Given the description of an element on the screen output the (x, y) to click on. 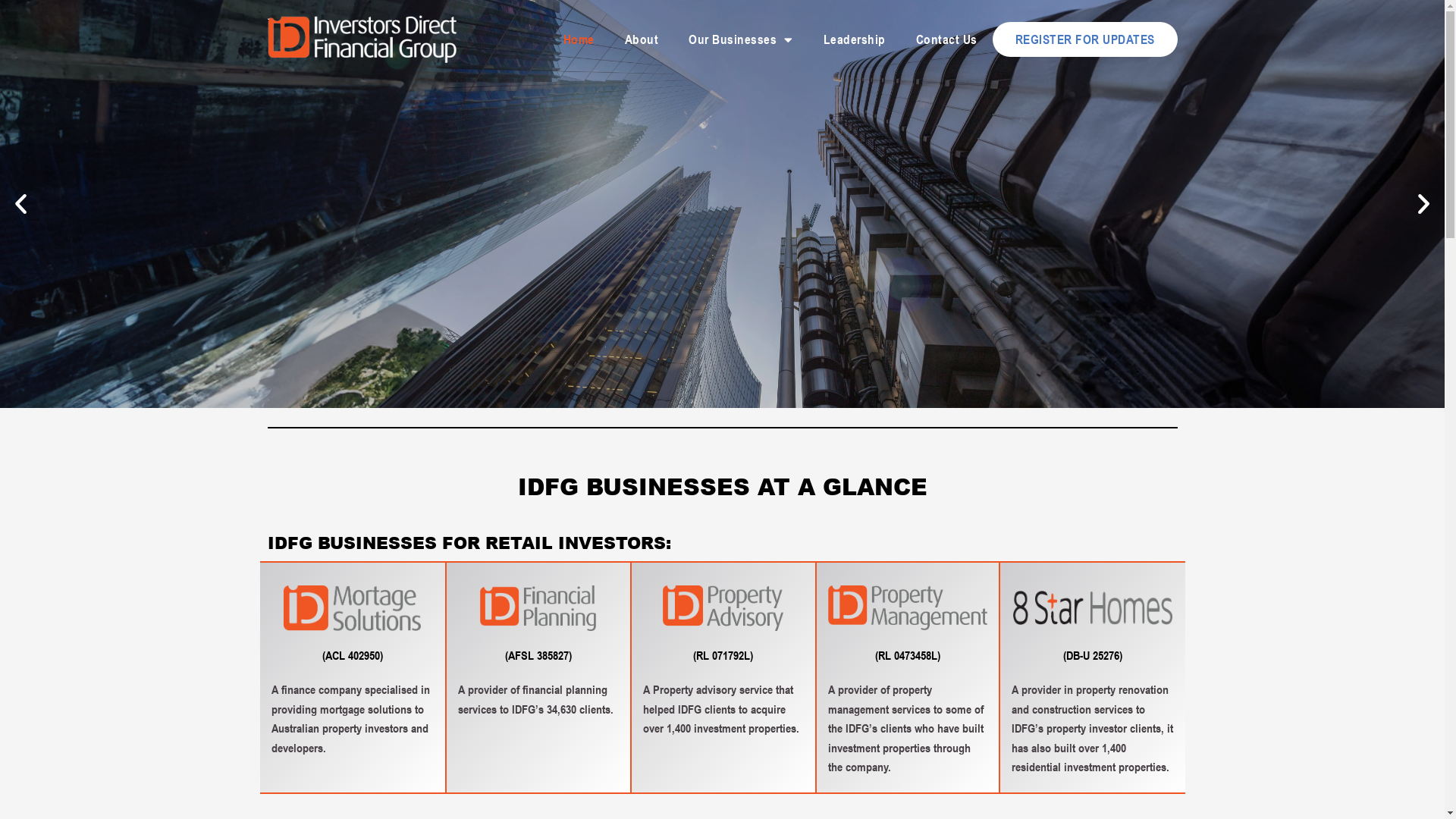
Leadership Element type: text (854, 38)
REGISTER FOR UPDATES Element type: text (1084, 38)
Contact Us Element type: text (946, 38)
Home Element type: text (577, 38)
Our Businesses Element type: text (740, 38)
About Element type: text (641, 38)
